Given the description of an element on the screen output the (x, y) to click on. 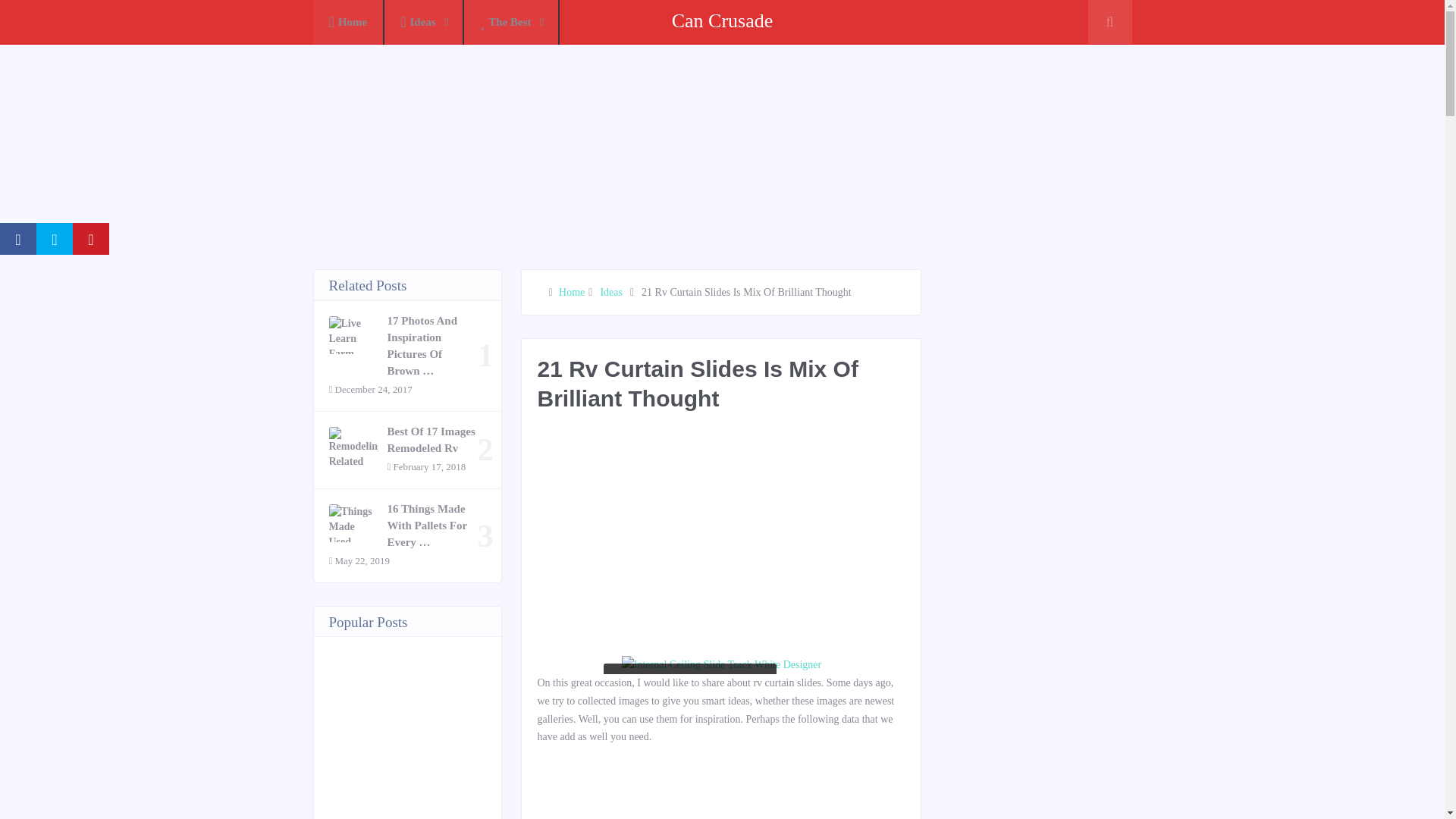
Home (348, 22)
Can Crusade (722, 20)
Ideas (611, 292)
Ideas (424, 22)
The Best (511, 22)
Home (572, 292)
View Gallery (721, 664)
Internal Ceiling Slide Track White Designer (721, 665)
